Given the description of an element on the screen output the (x, y) to click on. 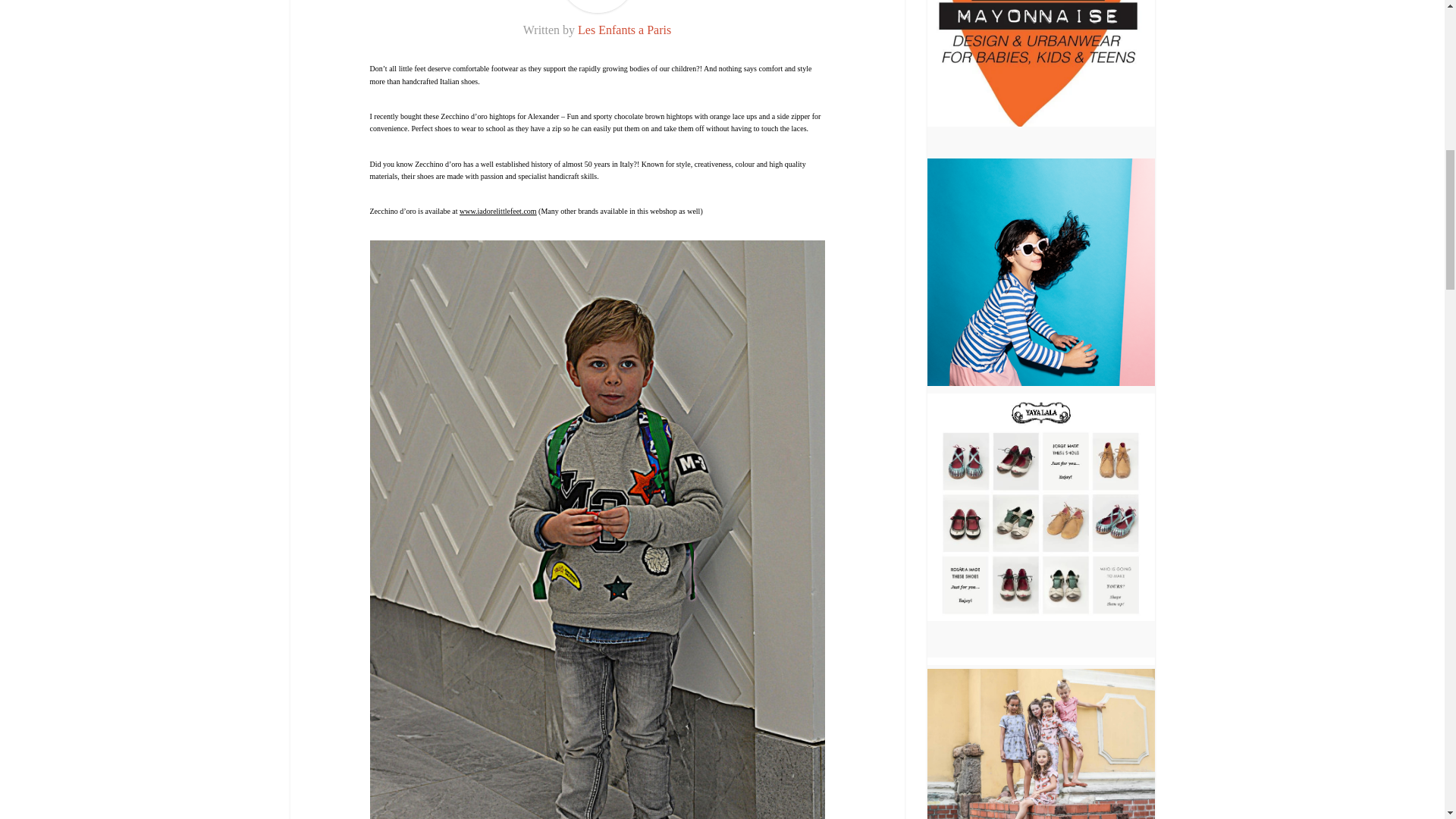
www.iadorelittlefeet.com (498, 211)
Les Enfants a Paris (624, 29)
